Given the description of an element on the screen output the (x, y) to click on. 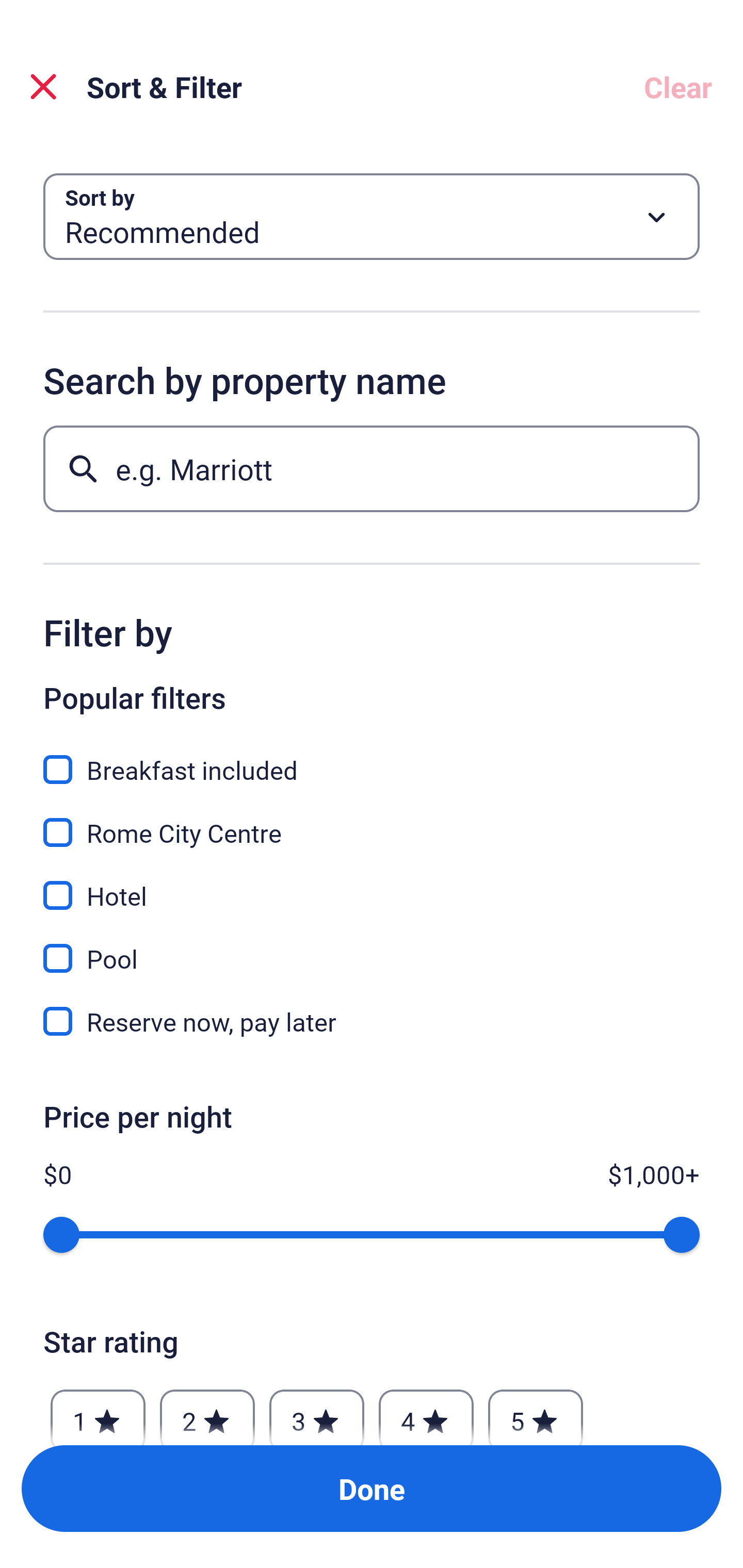
Close Sort and Filter (43, 86)
Clear (677, 86)
Sort by Button Recommended (371, 217)
e.g. Marriott Button (371, 468)
Breakfast included, Breakfast included (371, 757)
Rome City Centre, Rome City Centre (371, 821)
Hotel, Hotel (371, 883)
Pool, Pool (371, 946)
Reserve now, pay later, Reserve now, pay later (371, 1021)
1 (97, 1411)
2 (206, 1411)
3 (316, 1411)
4 (426, 1411)
5 (535, 1411)
Apply and close Sort and Filter Done (371, 1488)
